Given the description of an element on the screen output the (x, y) to click on. 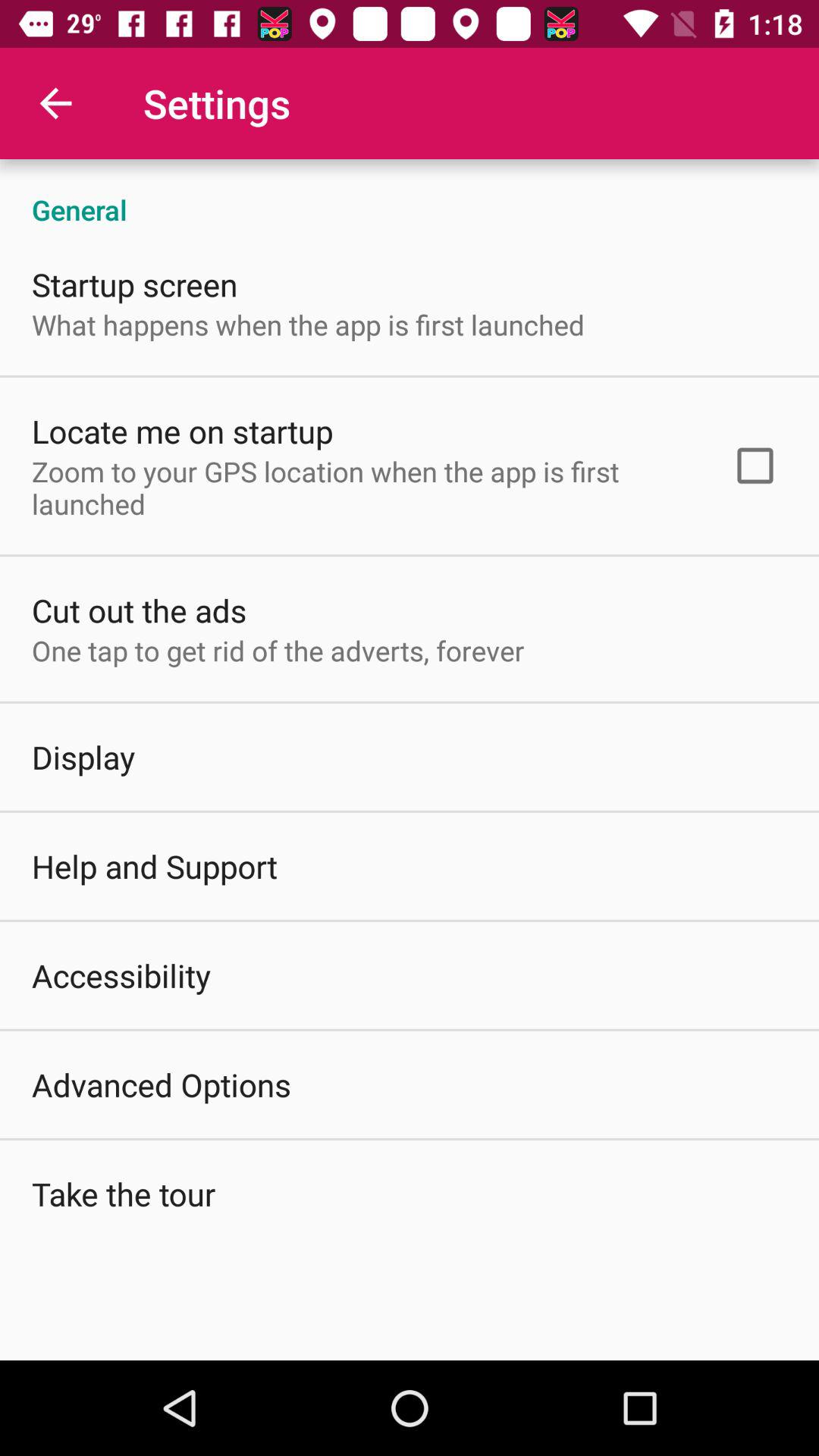
choose the icon above the take the tour (161, 1084)
